Given the description of an element on the screen output the (x, y) to click on. 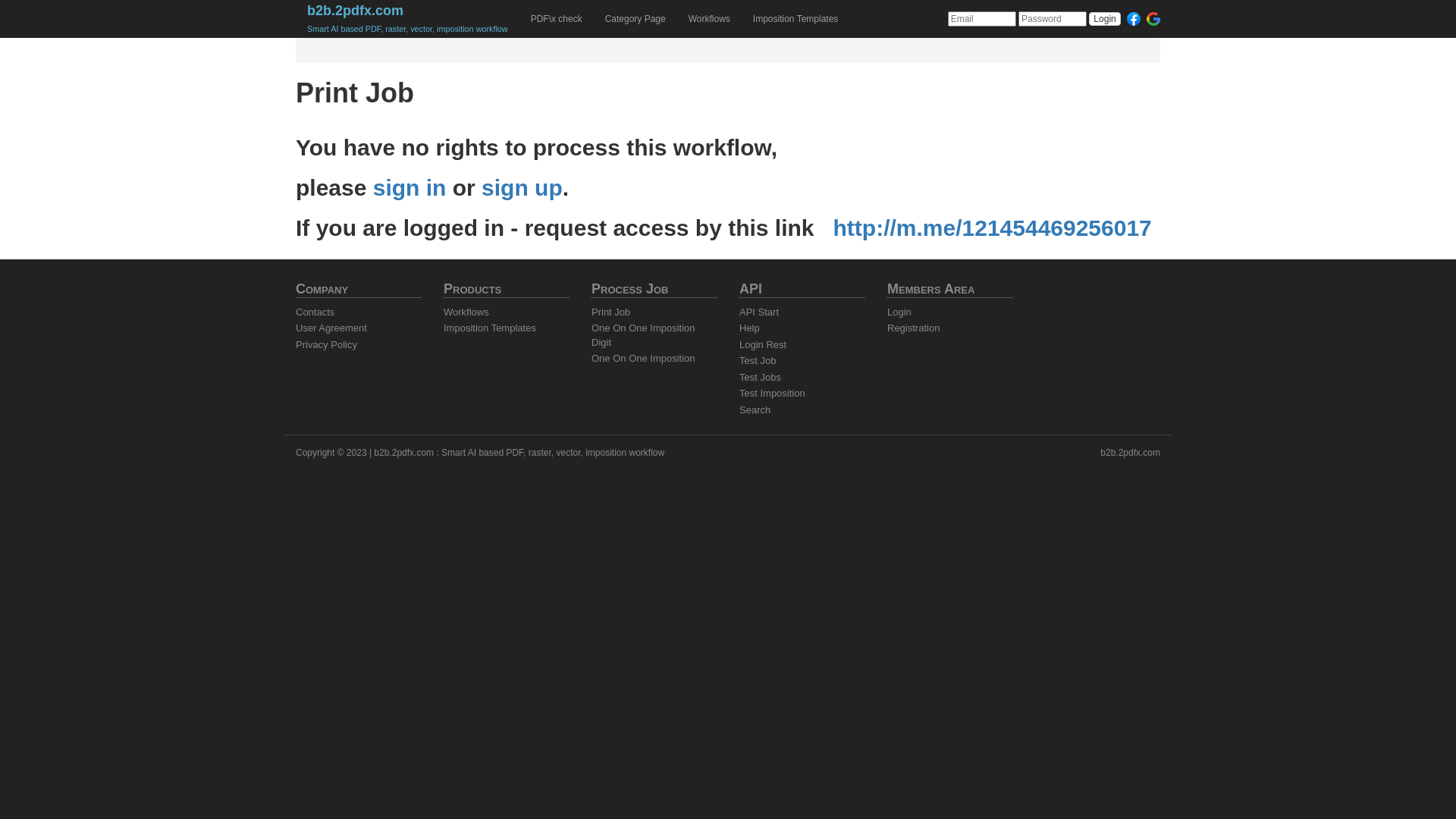
sign up Element type: text (521, 187)
Print Job Element type: text (610, 311)
Test Imposition Element type: text (772, 392)
Imposition Templates Element type: text (489, 327)
Registration Element type: text (913, 327)
Login Element type: text (899, 311)
http://m.me/121454469256017 Element type: text (992, 227)
Imposition Templates Element type: text (795, 18)
Login Element type: text (1104, 18)
Workflows Element type: text (466, 311)
Category Page Element type: text (635, 18)
Privacy Policy Element type: text (326, 344)
One On One Imposition Digit Element type: text (643, 335)
User Agreement Element type: text (331, 327)
Test Job Element type: text (757, 360)
PDF\x check Element type: text (556, 18)
sign in Element type: text (409, 187)
Contacts Element type: text (314, 311)
Test Jobs Element type: text (760, 376)
API Start Element type: text (758, 311)
Login Rest Element type: text (762, 344)
One On One Imposition Element type: text (643, 358)
Workflows Element type: text (709, 18)
Search Element type: text (754, 409)
Help Element type: text (749, 327)
